Given the description of an element on the screen output the (x, y) to click on. 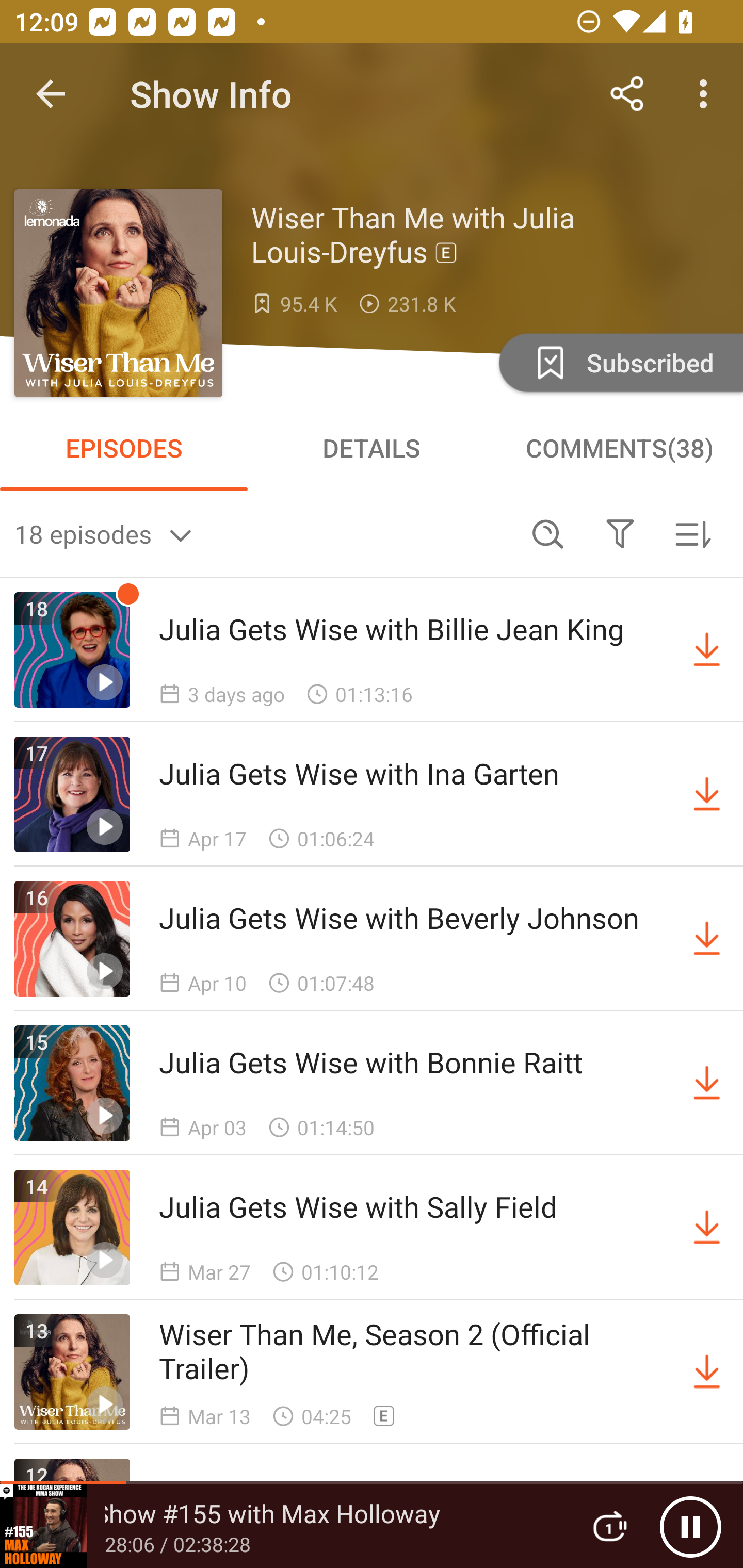
Navigate up (50, 93)
Share (626, 93)
More options (706, 93)
Unsubscribe Subscribed (619, 361)
EPISODES (123, 447)
DETAILS (371, 447)
COMMENTS(38) (619, 447)
18 episodes  (262, 533)
 Search (547, 533)
 (619, 533)
 Sorted by newest first (692, 533)
Download (706, 649)
Download (706, 793)
Download (706, 939)
Download (706, 1083)
Download (706, 1227)
Download (706, 1371)
Pause (690, 1526)
